Given the description of an element on the screen output the (x, y) to click on. 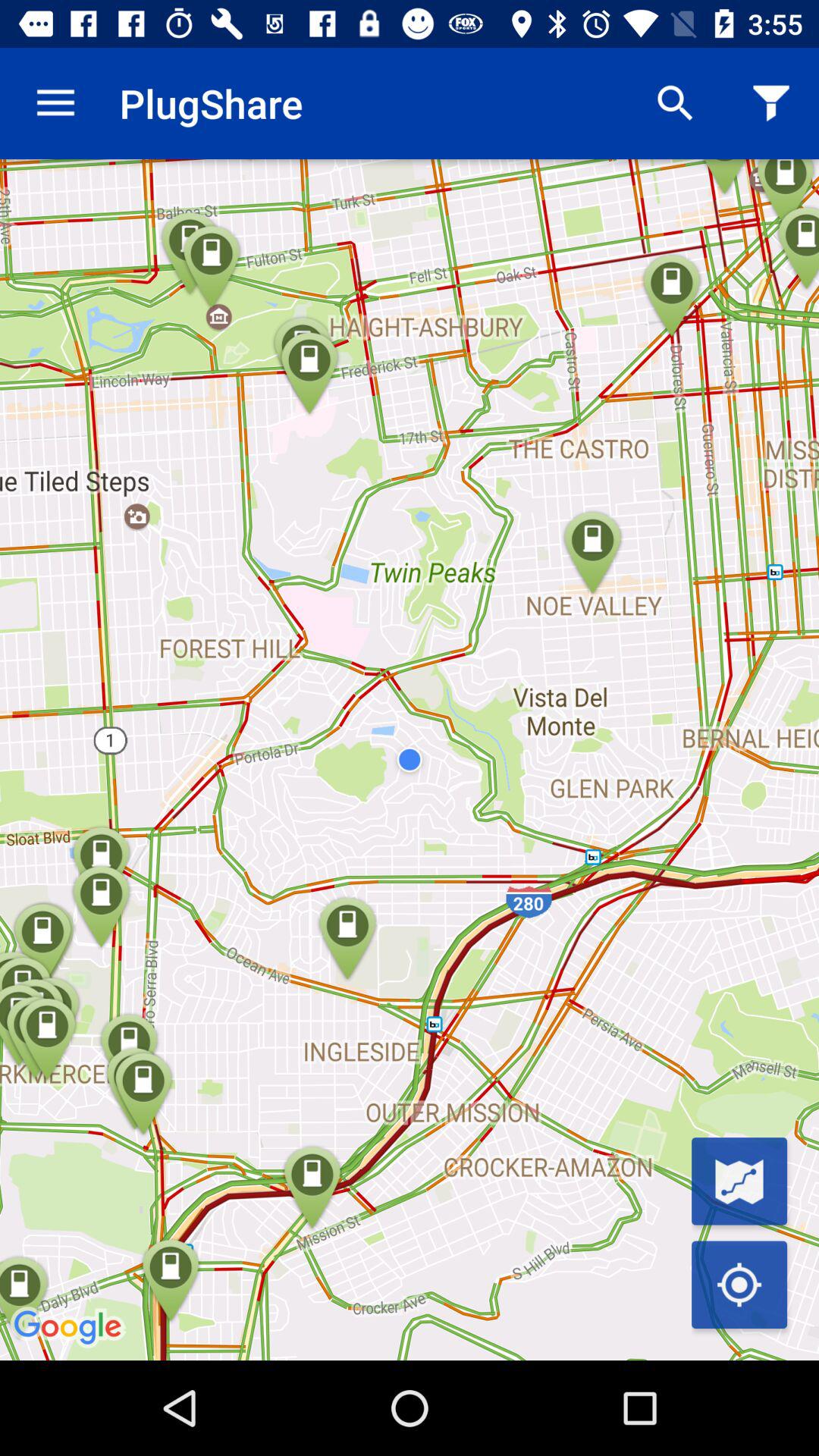
toggle track location (739, 1284)
